Given the description of an element on the screen output the (x, y) to click on. 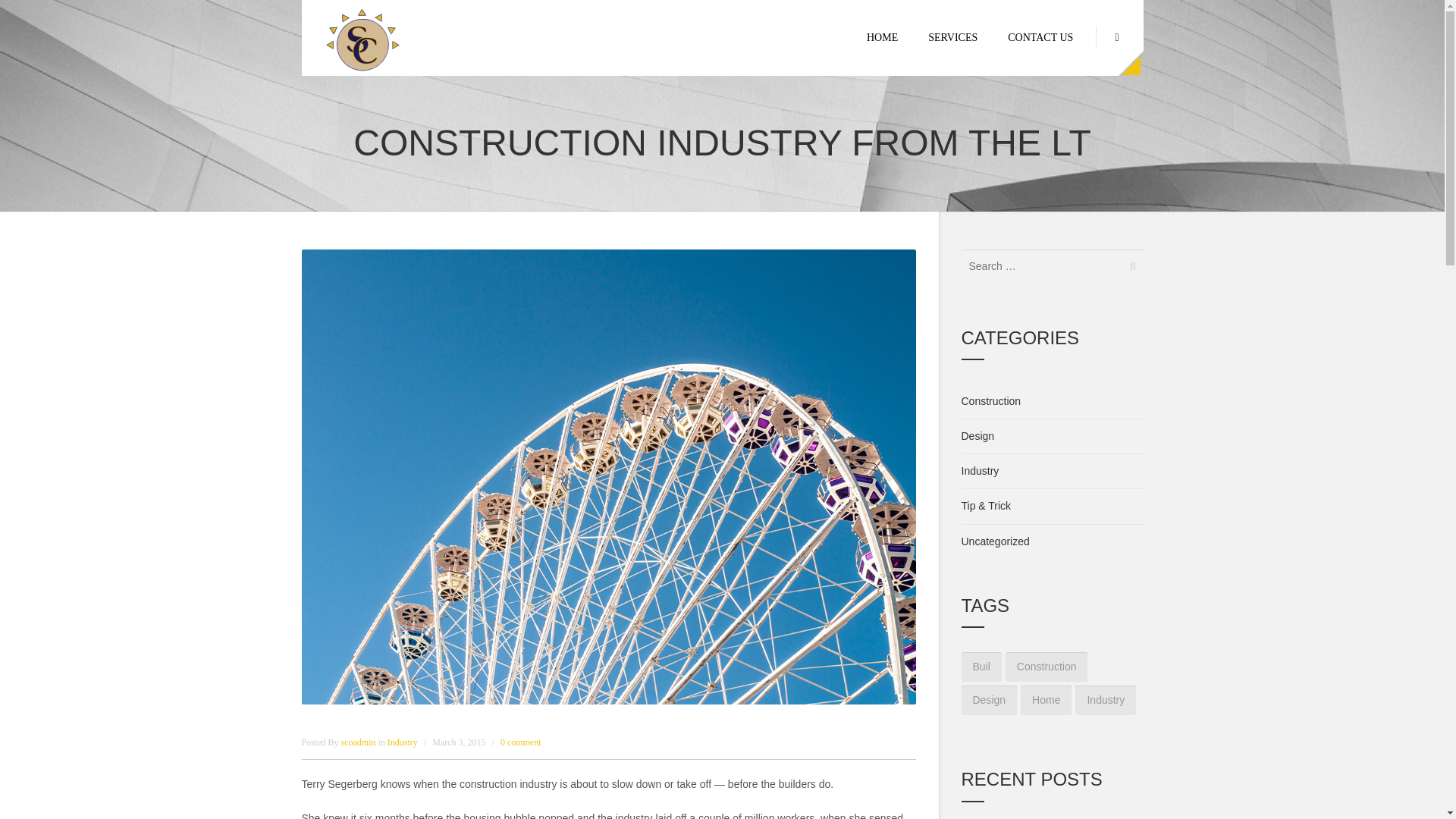
Construction (991, 400)
CONTACT US (1039, 38)
Search (47, 17)
Industry (402, 742)
scoadmin (359, 742)
0 comment (520, 742)
HOME (881, 38)
SERVICES (952, 38)
